Given the description of an element on the screen output the (x, y) to click on. 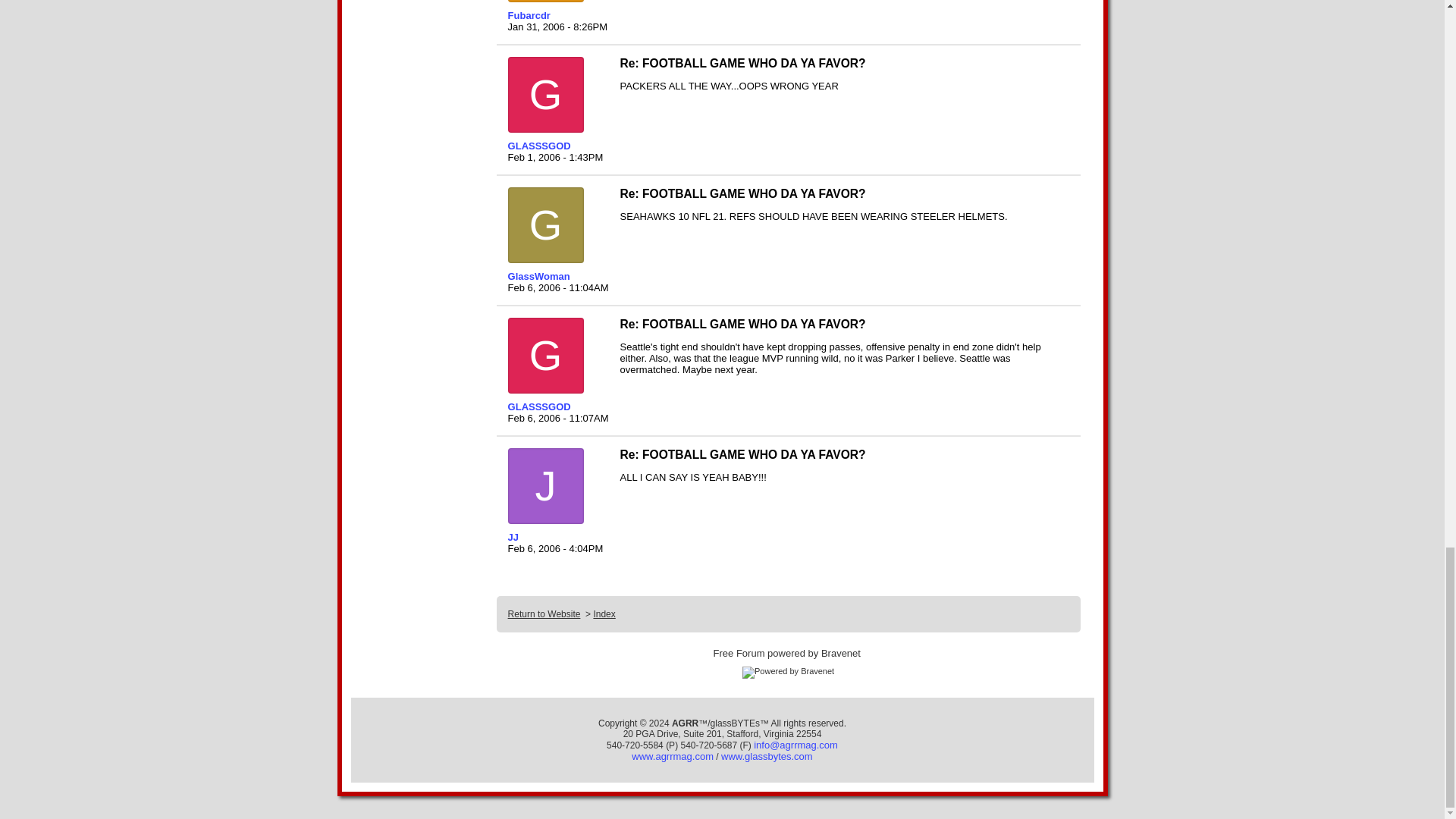
Messages from this User (513, 536)
Messages from this User (529, 15)
Messages from this User (539, 276)
Messages from this User (539, 406)
Messages from this User (539, 145)
Fubarcdr (557, 15)
